Given the description of an element on the screen output the (x, y) to click on. 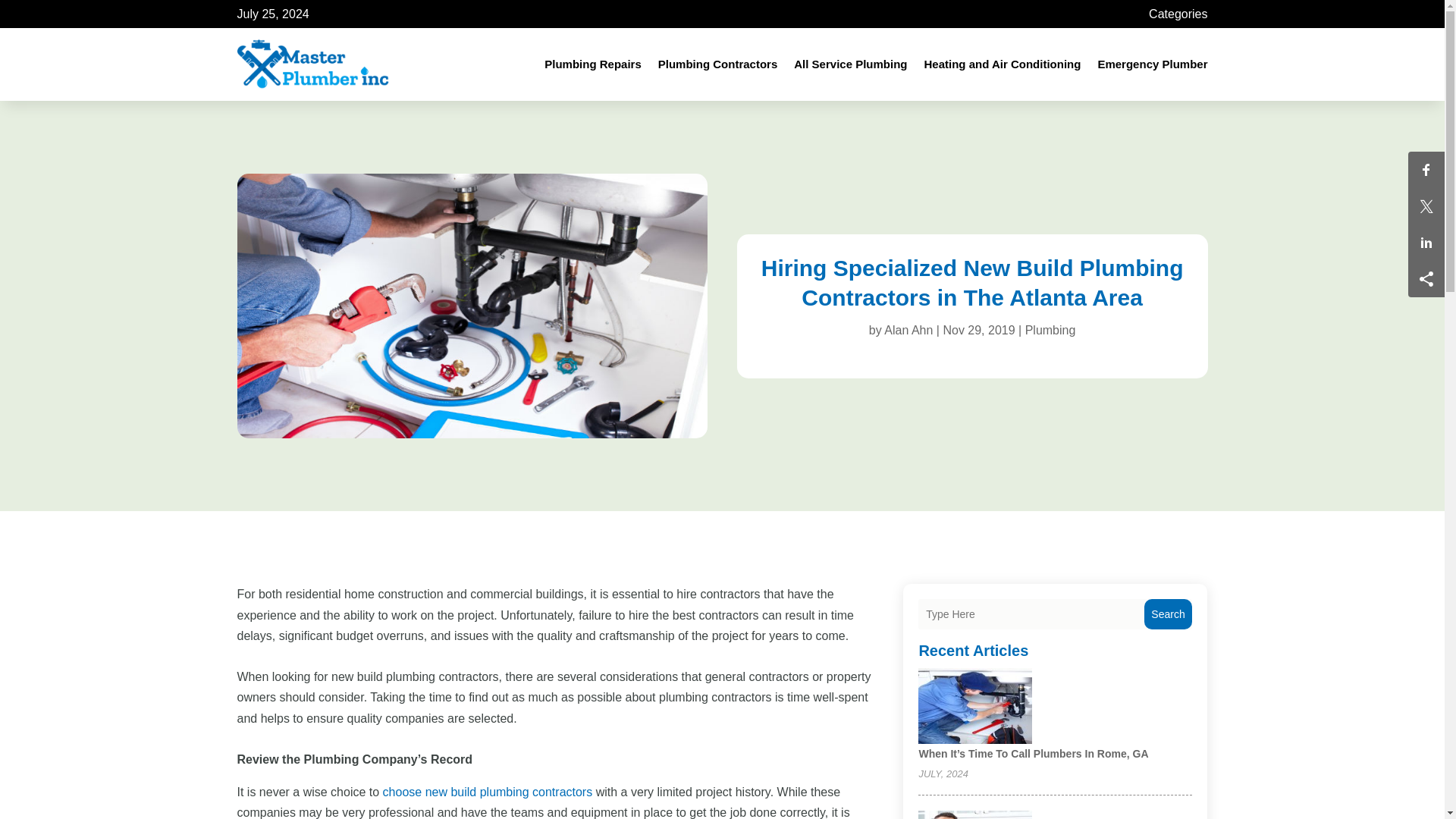
Posts by Alan Ahn (908, 329)
Heating and Air Conditioning (1001, 64)
Plumbing Repairs (593, 64)
Alan Ahn (908, 329)
Plumbing Contractors (717, 64)
Plumbing (1050, 329)
All Service Plumbing (850, 64)
Emergency Plumber (1152, 64)
choose new build plumbing contractors (487, 791)
Search (1168, 613)
Welcome To Master Plumber Inc (471, 305)
